Given the description of an element on the screen output the (x, y) to click on. 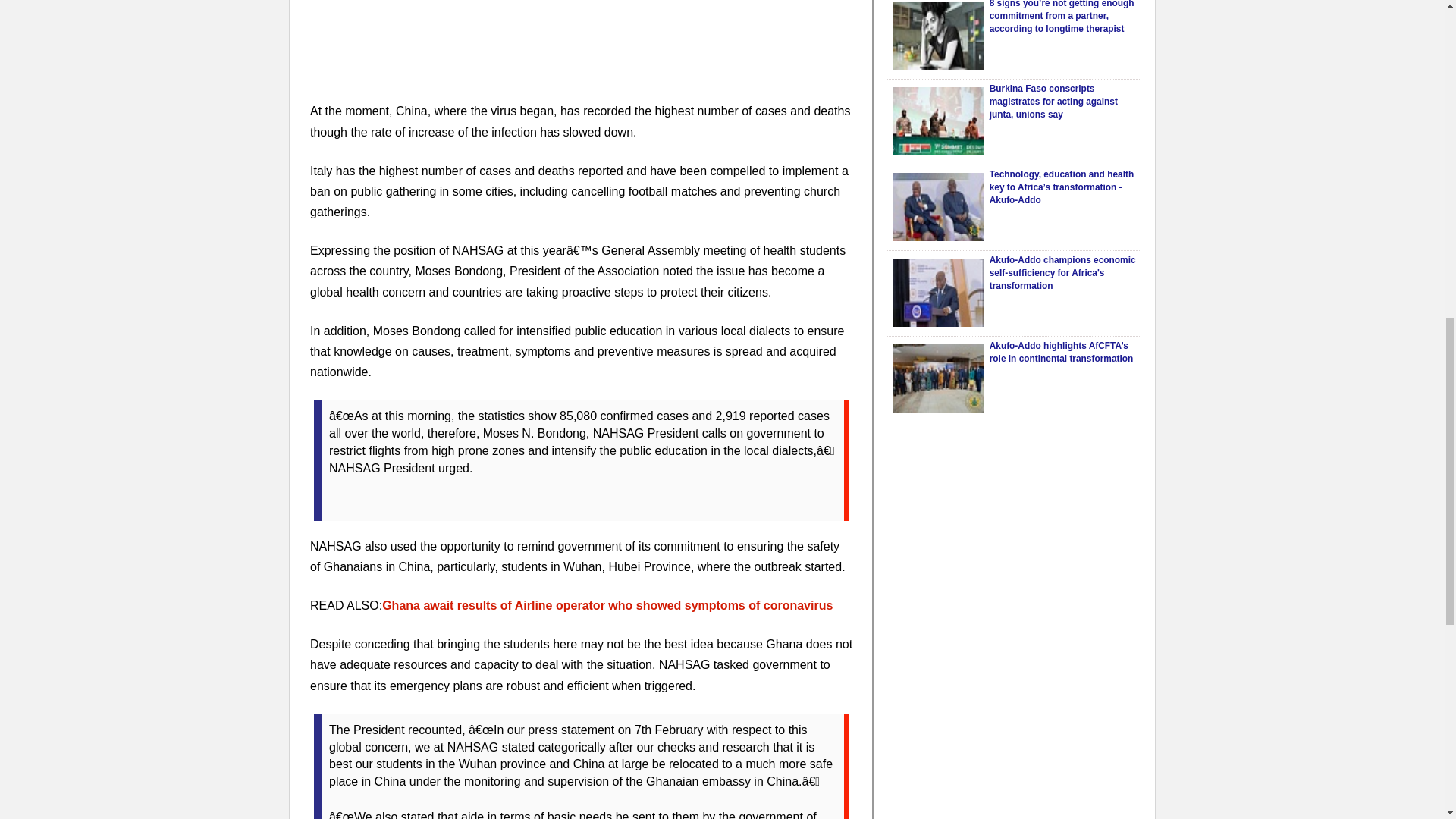
Advertisement (581, 50)
